Given the description of an element on the screen output the (x, y) to click on. 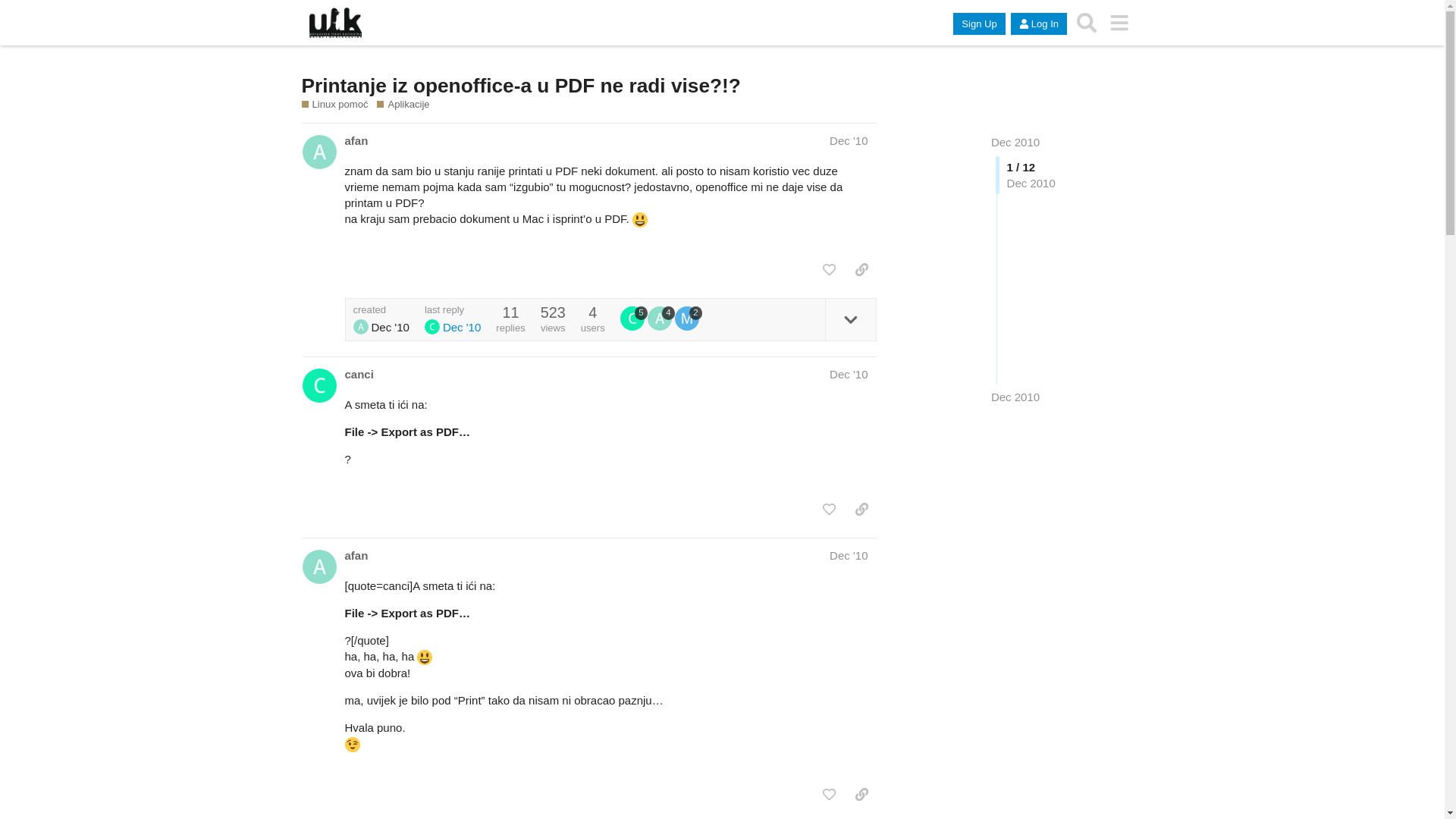
canci Element type: hover (632, 318)
like this post Element type: hover (829, 509)
Printanje iz openoffice-a u PDF ne radi vise?!? Element type: text (520, 85)
Aplikacije Element type: text (402, 104)
afan Element type: hover (659, 318)
afan Element type: hover (360, 326)
share a link to this post Element type: hover (861, 509)
:wink: Element type: hover (351, 744)
canci Element type: hover (431, 326)
share a link to this post Element type: hover (861, 269)
share a link to this post Element type: hover (861, 794)
Dec 2010 Element type: text (1015, 396)
Dec 2010 Element type: text (1015, 141)
last reply
Dec '10 Element type: text (452, 319)
:smiley: Element type: hover (639, 219)
Dec '10 Element type: text (848, 140)
canci Element type: text (358, 374)
expand topic details Element type: hover (850, 319)
afan Element type: text (355, 140)
medo Element type: hover (686, 318)
Log In Element type: text (1038, 23)
Dec '10 Element type: text (848, 555)
Dec '10 Element type: text (848, 373)
Sign Up Element type: text (978, 23)
Search Element type: hover (1086, 22)
menu Element type: hover (1119, 22)
like this post Element type: hover (829, 269)
like this post Element type: hover (829, 794)
:smiley: Element type: hover (424, 657)
afan Element type: text (355, 555)
